Given the description of an element on the screen output the (x, y) to click on. 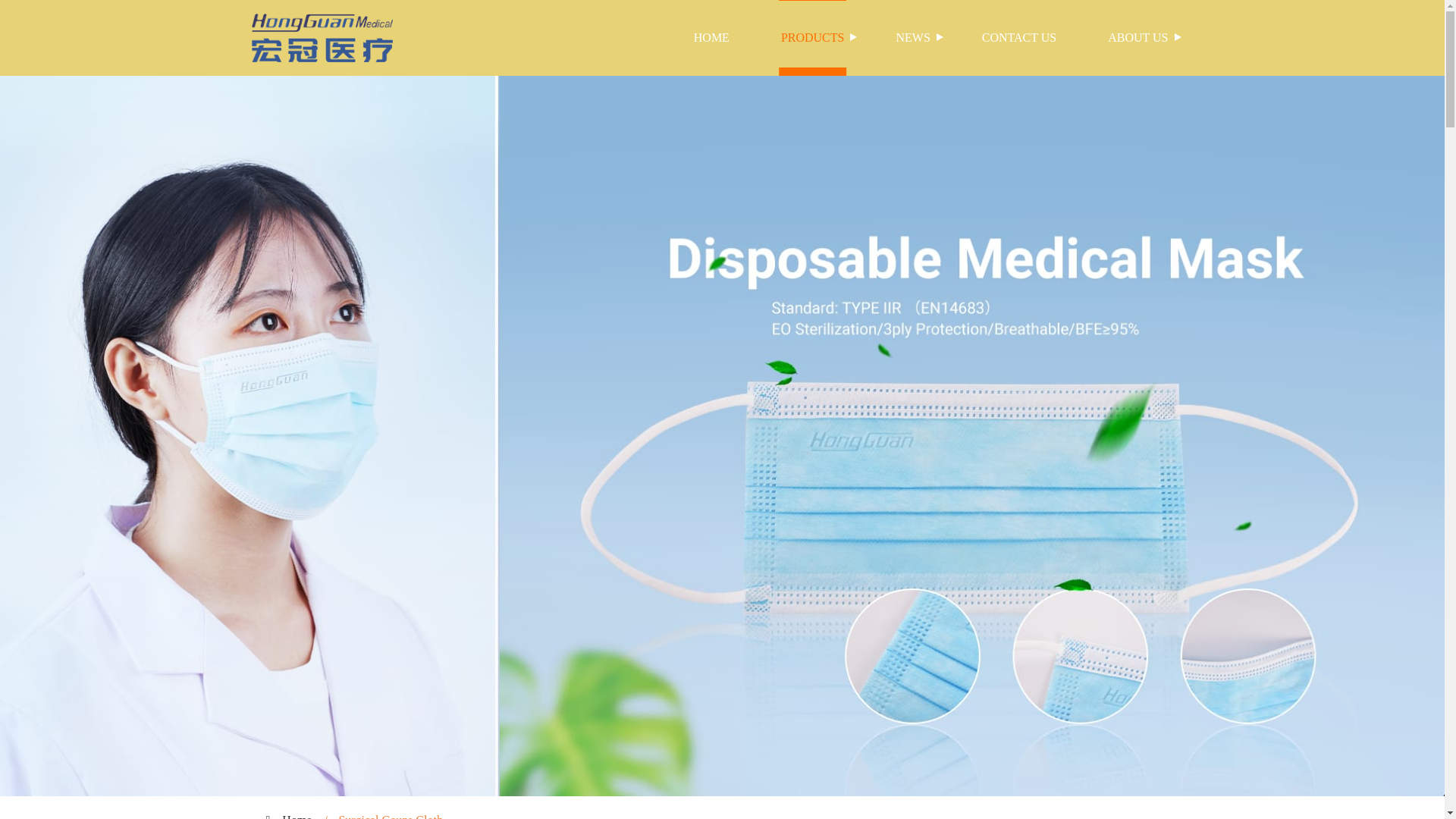
Home (296, 816)
PRODUCTS (812, 38)
CONTACT US (1018, 38)
